Given the description of an element on the screen output the (x, y) to click on. 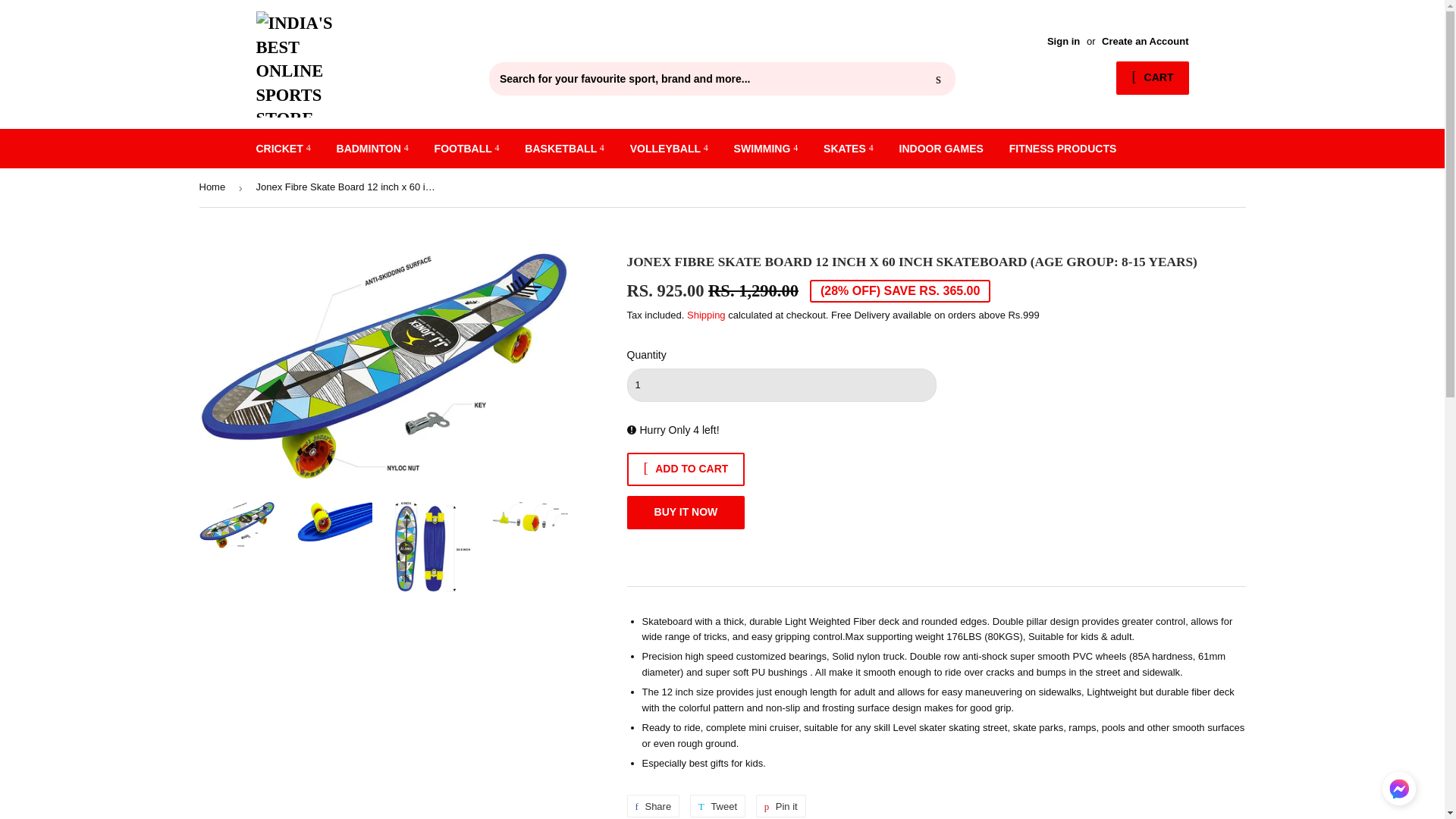
Create an Account (1145, 41)
1 (781, 385)
Share on Facebook (652, 805)
CART (1152, 78)
Sign in (1063, 41)
Pin on Pinterest (780, 805)
Search (938, 79)
Tweet on Twitter (717, 805)
